Given the description of an element on the screen output the (x, y) to click on. 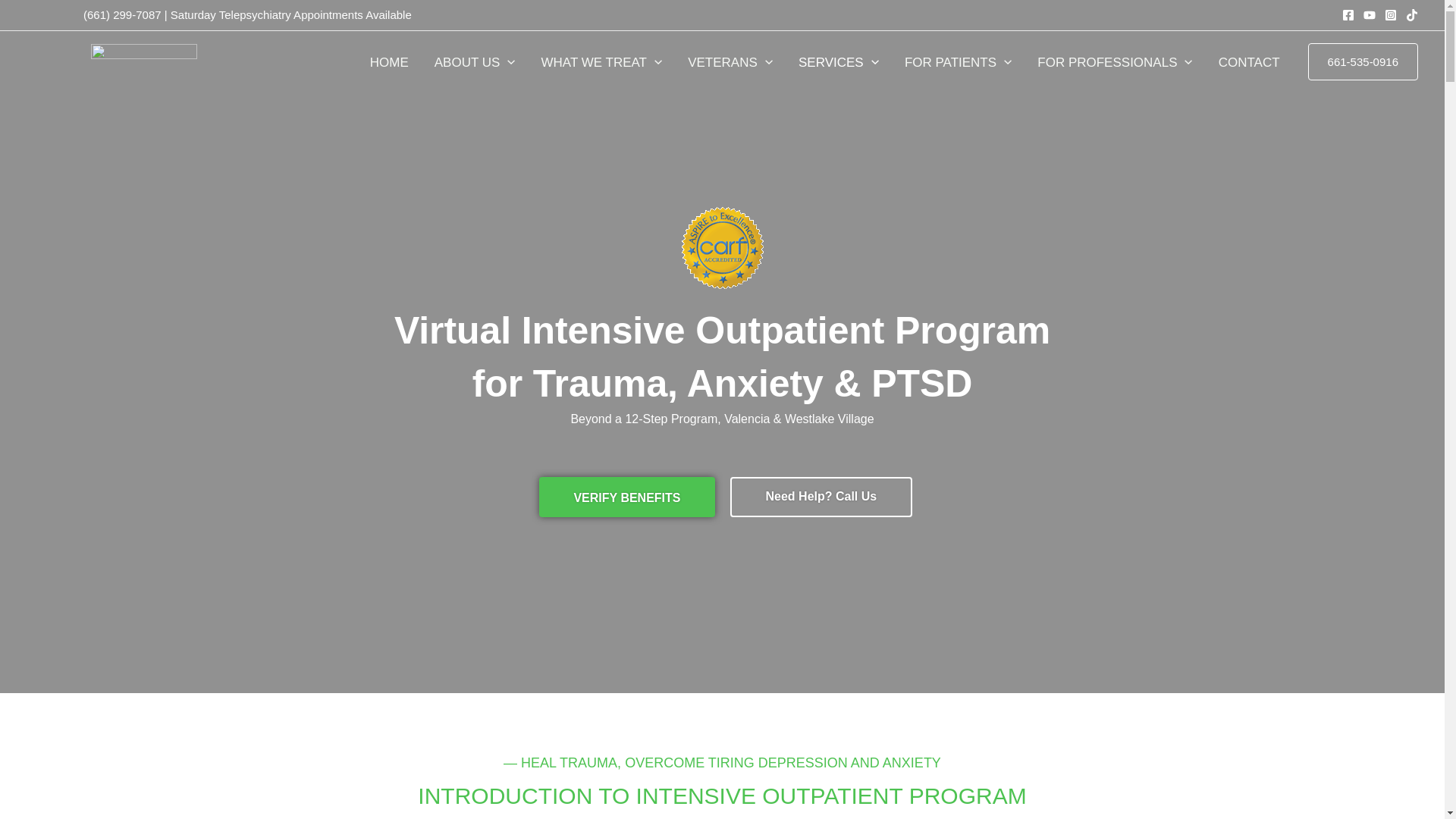
SERVICES (838, 62)
ABOUT US (475, 62)
HOME (389, 62)
VETERANS (730, 62)
WHAT WE TREAT (601, 62)
